Given the description of an element on the screen output the (x, y) to click on. 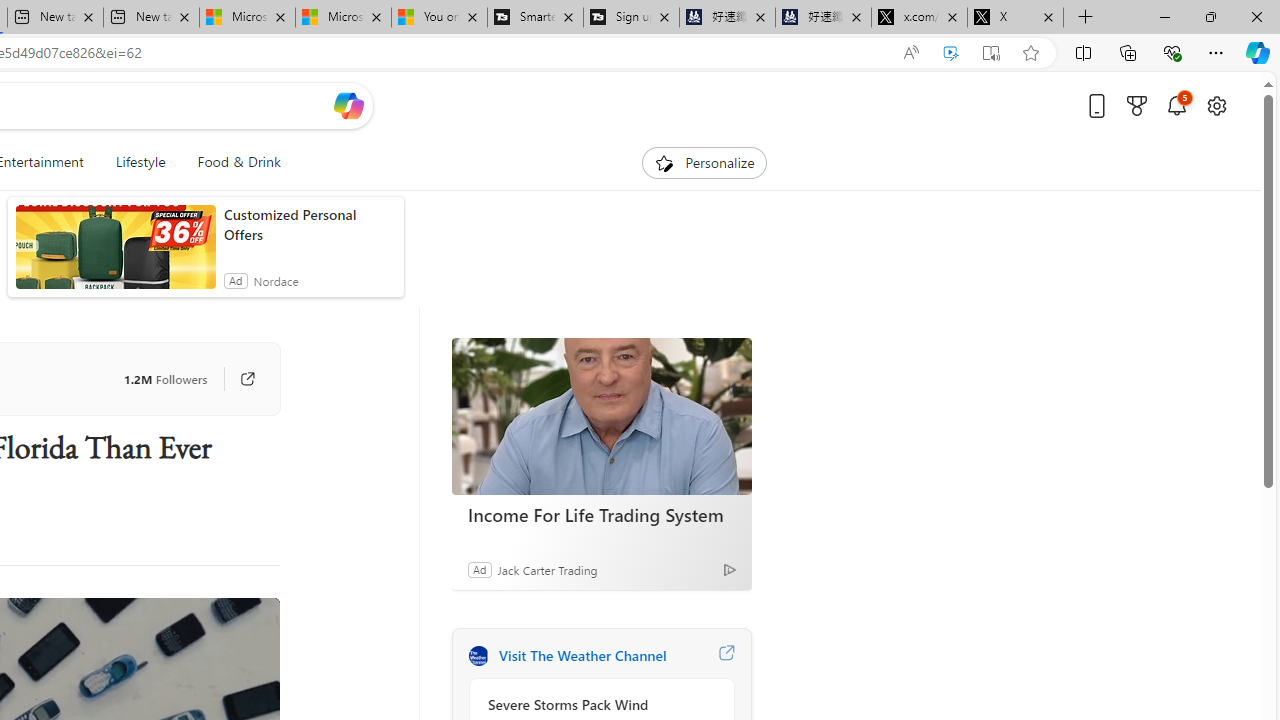
Microsoft rewards (1137, 105)
Open Copilot (347, 105)
Notifications (1176, 105)
Enter Immersive Reader (F9) (991, 53)
Food & Drink (239, 162)
Income For Life Trading System (601, 416)
Jack Carter Trading (546, 569)
Open Copilot (347, 105)
